Given the description of an element on the screen output the (x, y) to click on. 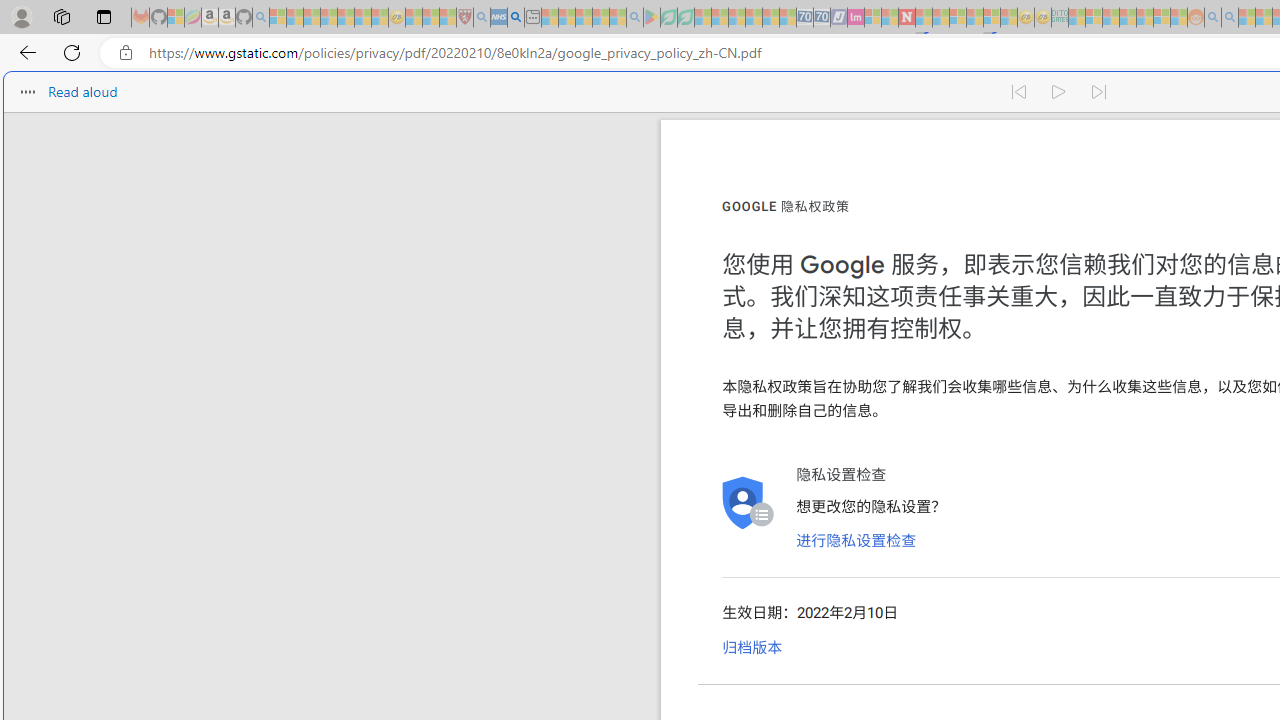
Terms of Use Agreement - Sleeping (668, 17)
Bluey: Let's Play! - Apps on Google Play - Sleeping (651, 17)
Robert H. Shmerling, MD - Harvard Health - Sleeping (465, 17)
list of asthma inhalers uk - Search - Sleeping (481, 17)
Recipes - MSN - Sleeping (413, 17)
